Given the description of an element on the screen output the (x, y) to click on. 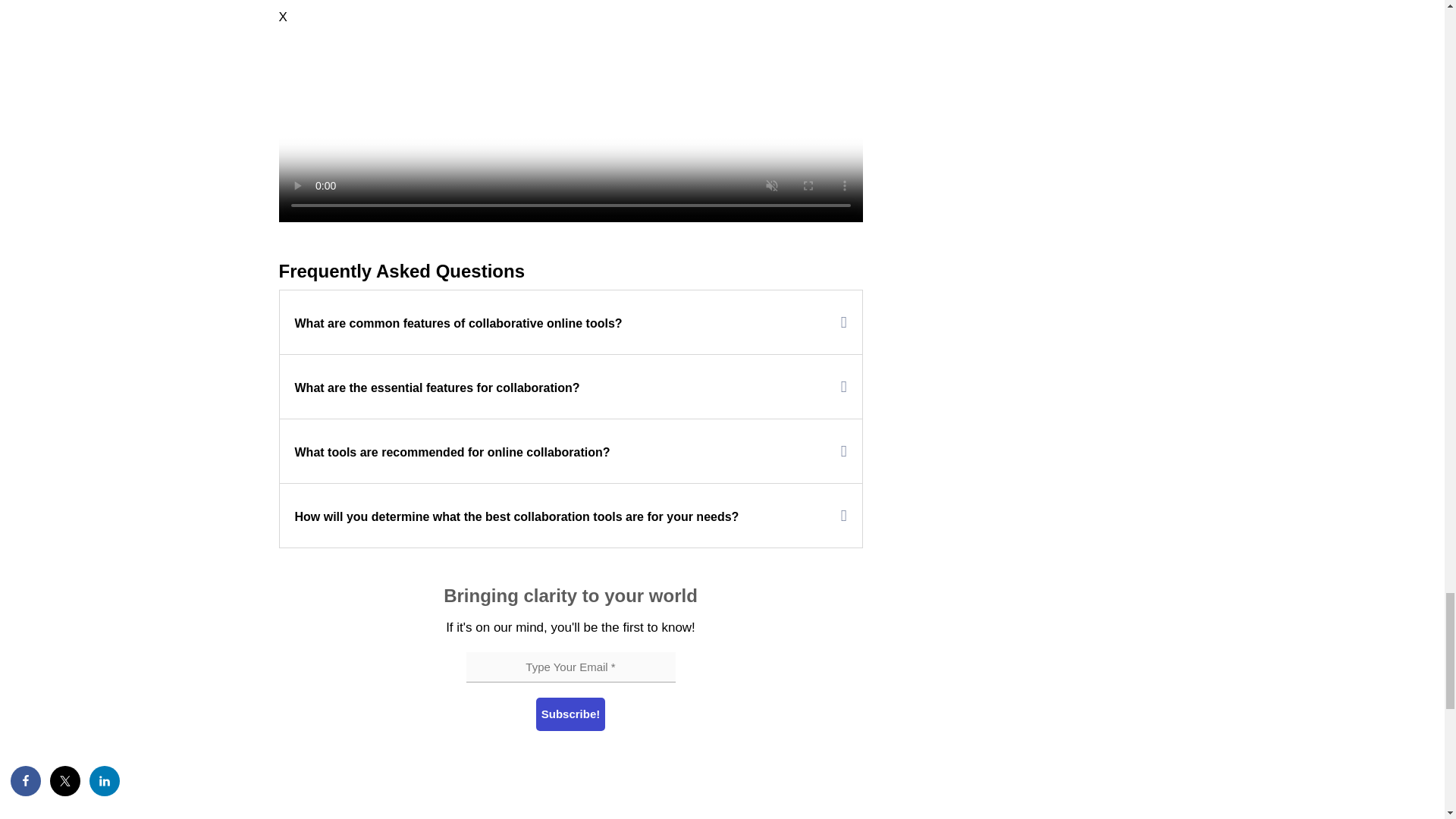
Subscribe! (570, 714)
